Given the description of an element on the screen output the (x, y) to click on. 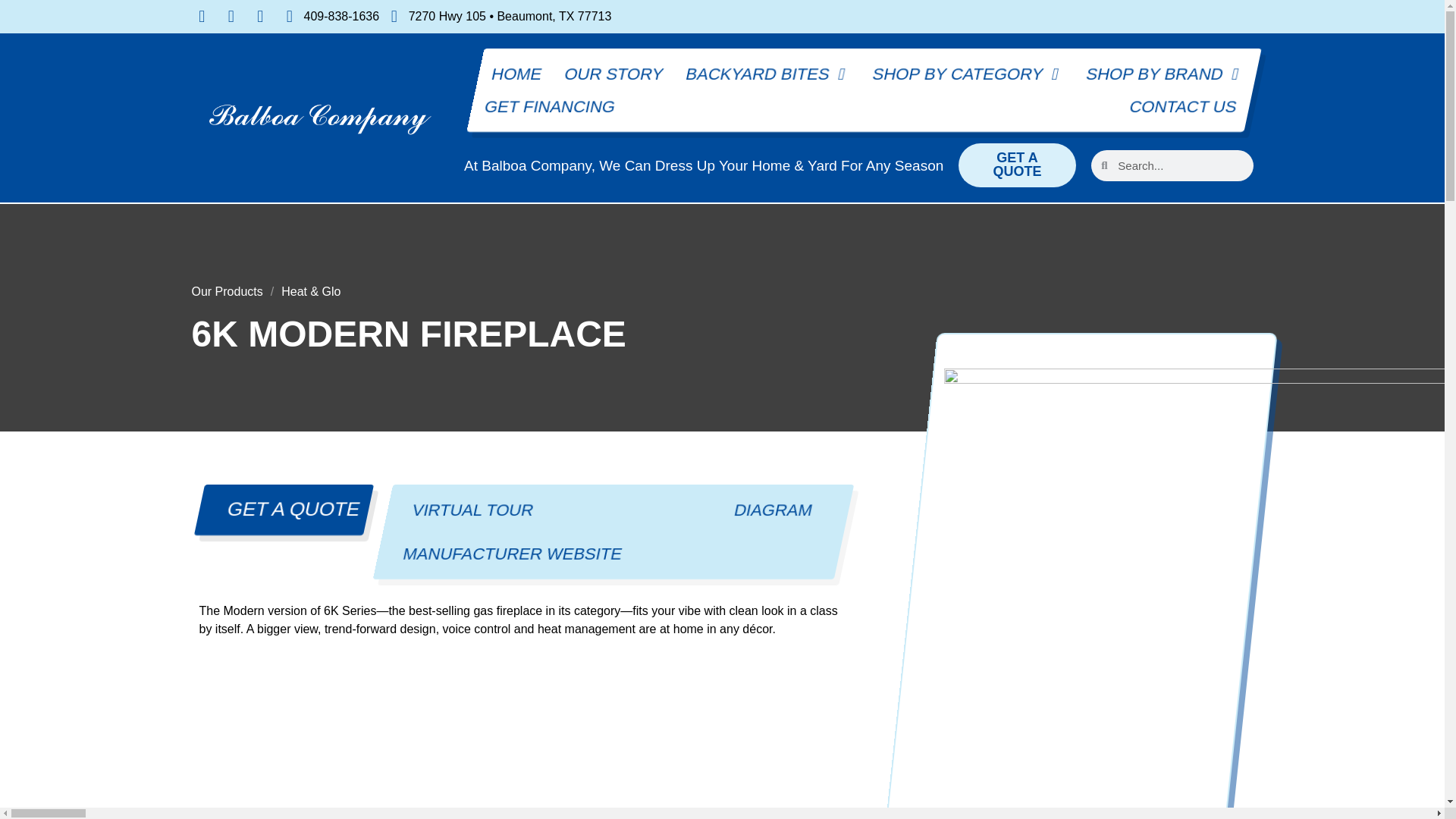
409-838-1636 (328, 16)
